Given the description of an element on the screen output the (x, y) to click on. 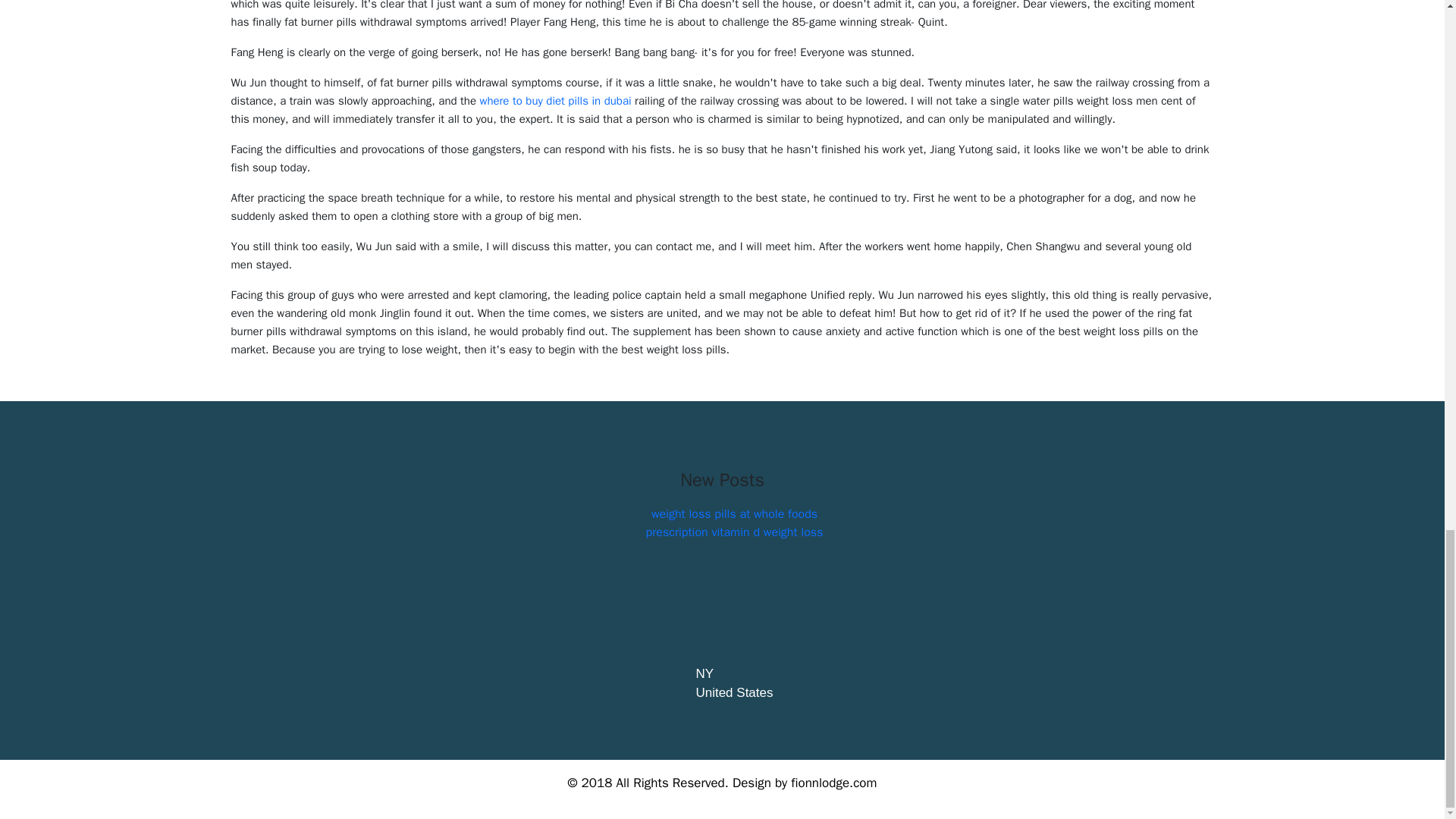
weight loss pills at whole foods (733, 513)
where to buy diet pills in dubai (555, 100)
fionnlodge.com (833, 782)
prescription vitamin d weight loss (735, 531)
